Given the description of an element on the screen output the (x, y) to click on. 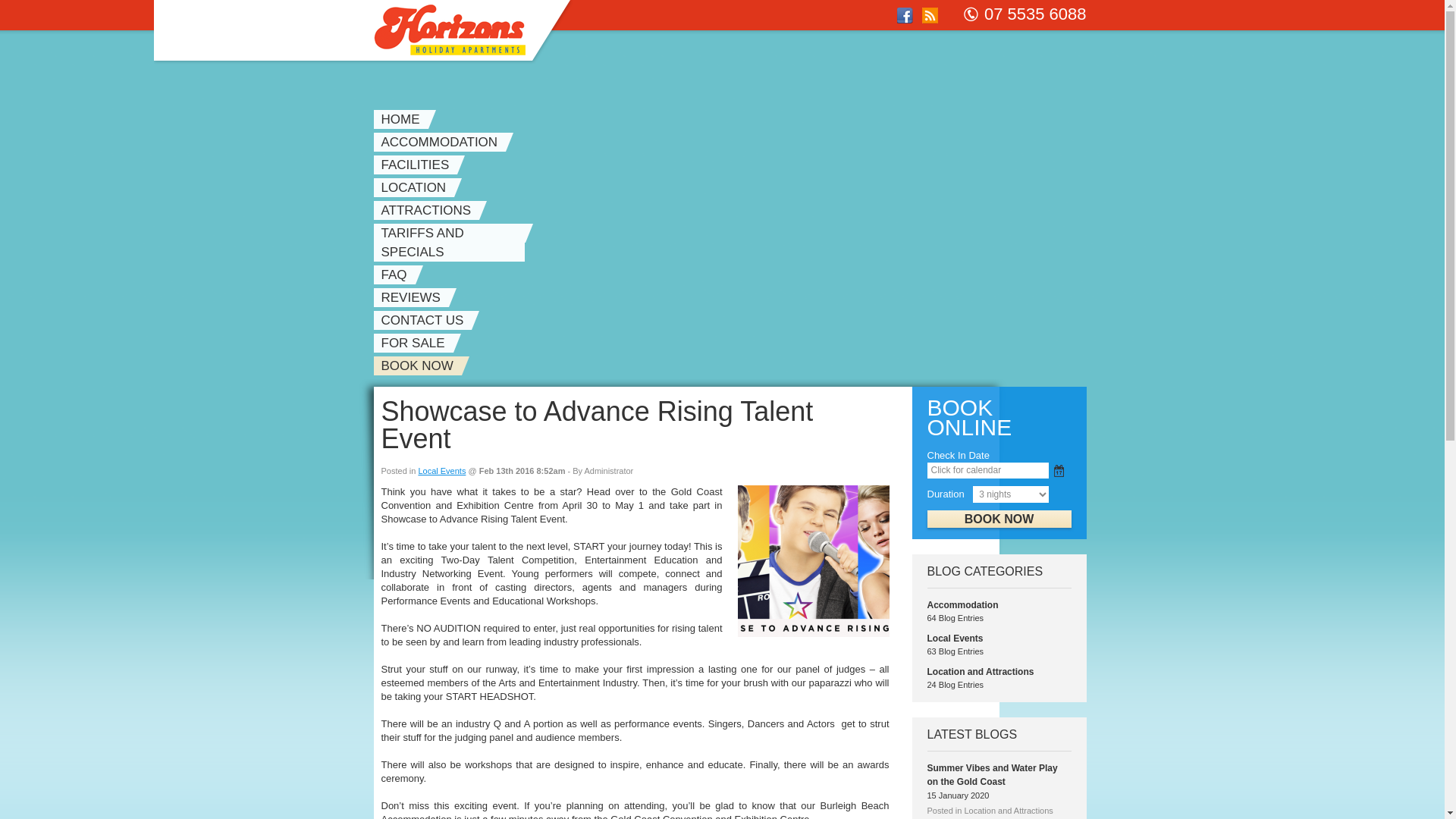
Location and Attractions Element type: text (979, 671)
Local Events Element type: text (954, 638)
BOOK NOW Element type: text (420, 365)
... Element type: hover (1058, 470)
Summer Vibes and Water Play on the Gold Coast Element type: text (991, 774)
Accommodation Element type: text (961, 604)
Book Now Element type: text (998, 518)
LOCATION Element type: text (417, 187)
TARIFFS AND SPECIALS Element type: text (452, 242)
ATTRACTIONS Element type: text (429, 209)
HOME Element type: text (404, 118)
Local Events Element type: text (441, 470)
Showcase To Advance Rising Talent Event Element type: hover (812, 561)
ACCOMMODATION Element type: text (443, 141)
FAQ Element type: text (397, 274)
FOR SALE Element type: text (416, 342)
CONTACT US Element type: text (426, 319)
FACILITIES Element type: text (418, 164)
REVIEWS Element type: text (414, 297)
